Given the description of an element on the screen output the (x, y) to click on. 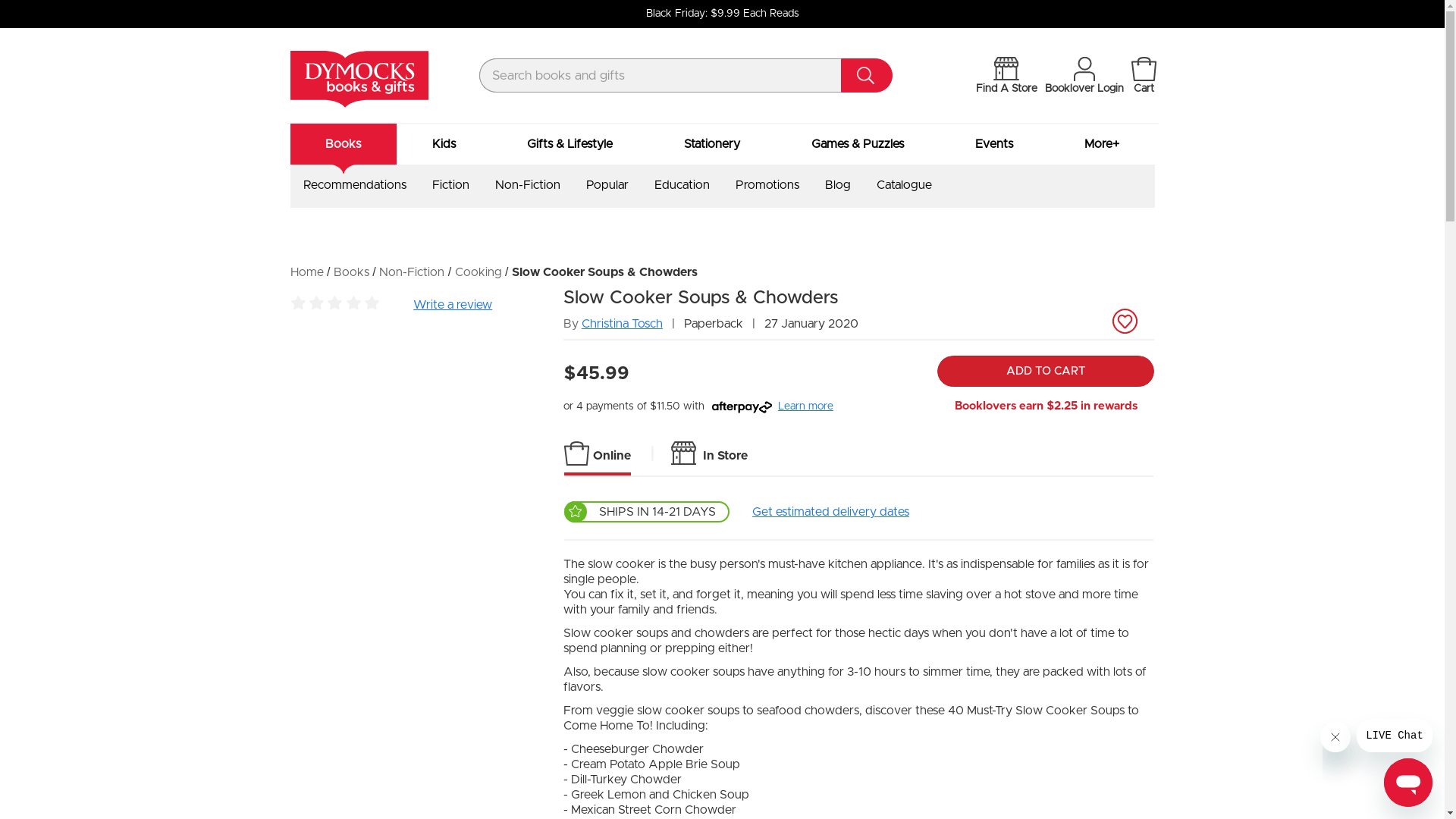
Close message Element type: hover (1335, 736)
Catalogue Element type: text (903, 184)
Recommendations Element type: text (354, 184)
Gifts & Lifestyle Element type: text (569, 143)
Blog Element type: text (837, 184)
Cooking Element type: text (478, 271)
Be the first to review this product Element type: hover (334, 305)
Events Element type: text (993, 143)
Kids Element type: text (443, 143)
Booklover Login Element type: text (1083, 76)
Learn more Element type: text (805, 406)
Get estimated delivery dates Element type: text (830, 511)
Find A Store Element type: text (1006, 76)
Popular Element type: text (606, 184)
Black Friday: $9.99 Each Reads Element type: text (721, 13)
Books Element type: text (342, 143)
Home Element type: text (306, 271)
Books Element type: text (351, 271)
In Store Element type: text (709, 453)
Write a review Element type: text (452, 304)
Non-Fiction Element type: text (411, 271)
Add to Wishlist Element type: hover (1124, 309)
Non-Fiction Element type: text (526, 184)
More+ Element type: text (1101, 143)
Education Element type: text (681, 184)
Stationery Element type: text (711, 143)
Games & Puzzles Element type: text (857, 143)
Promotions Element type: text (767, 184)
Button to launch messaging window Element type: hover (1407, 782)
Message from company Element type: hover (1394, 735)
Christina Tosch Element type: text (621, 323)
ADD TO CART Element type: text (1045, 370)
Fiction Element type: text (450, 184)
Online Element type: text (597, 455)
Dymocks - Australia's leading bookseller Element type: hover (358, 78)
